Given the description of an element on the screen output the (x, y) to click on. 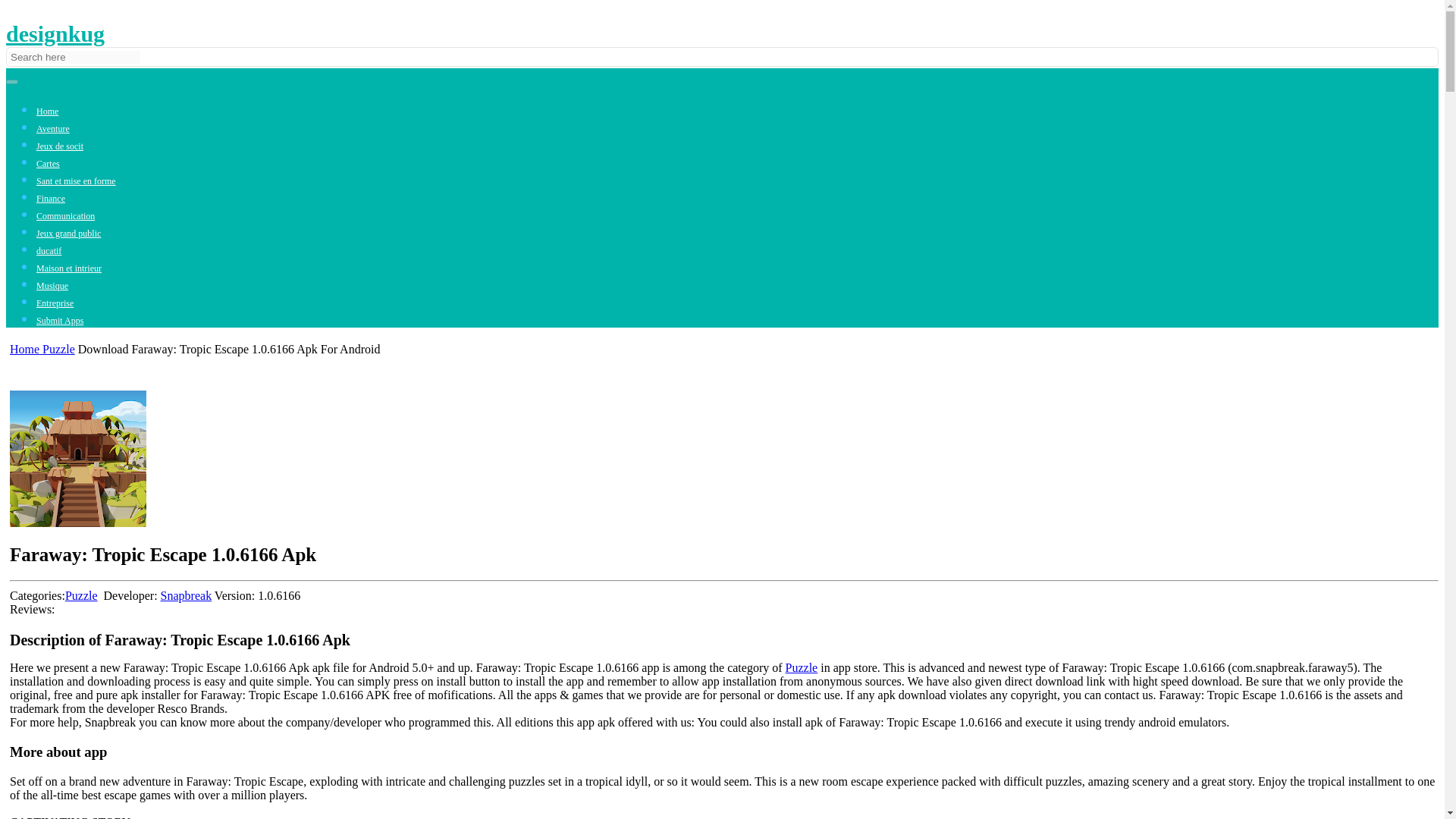
Jeux de socit (59, 145)
Download Faraway: Tropic Escape 1.0.6166 Apk for android (78, 458)
Entreprise (55, 303)
Finance (50, 198)
Musique (52, 285)
Puzzle (802, 667)
designkug (54, 33)
Communication (65, 215)
Sant et mise en forme (76, 181)
Aventure (52, 128)
ducatif (48, 250)
Puzzle (58, 349)
Home (47, 111)
Maison et intrieur (68, 267)
Puzzle (81, 594)
